Given the description of an element on the screen output the (x, y) to click on. 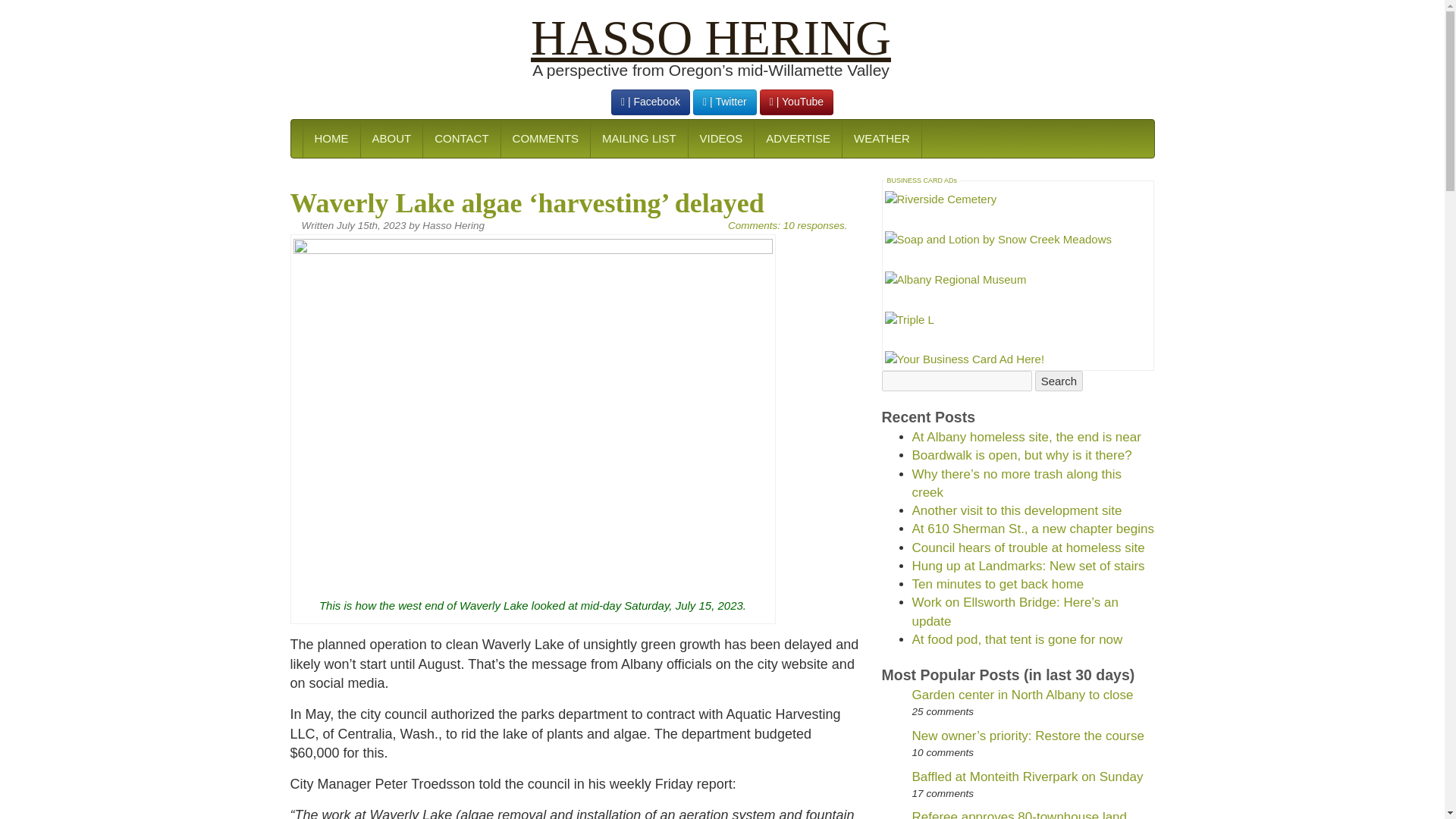
Search (1059, 813)
Comments: 10 responses. (787, 225)
COMMENTS (545, 138)
ABOUT (390, 138)
HASSO HERING (711, 37)
BUSINESS CARD ADs (922, 180)
VIDEOS (720, 138)
ADVERTISE (797, 138)
MAILING LIST (638, 138)
CONTACT (460, 138)
Hasso Hering (711, 37)
HOME (330, 138)
WEATHER (881, 138)
Search (1059, 813)
